Given the description of an element on the screen output the (x, y) to click on. 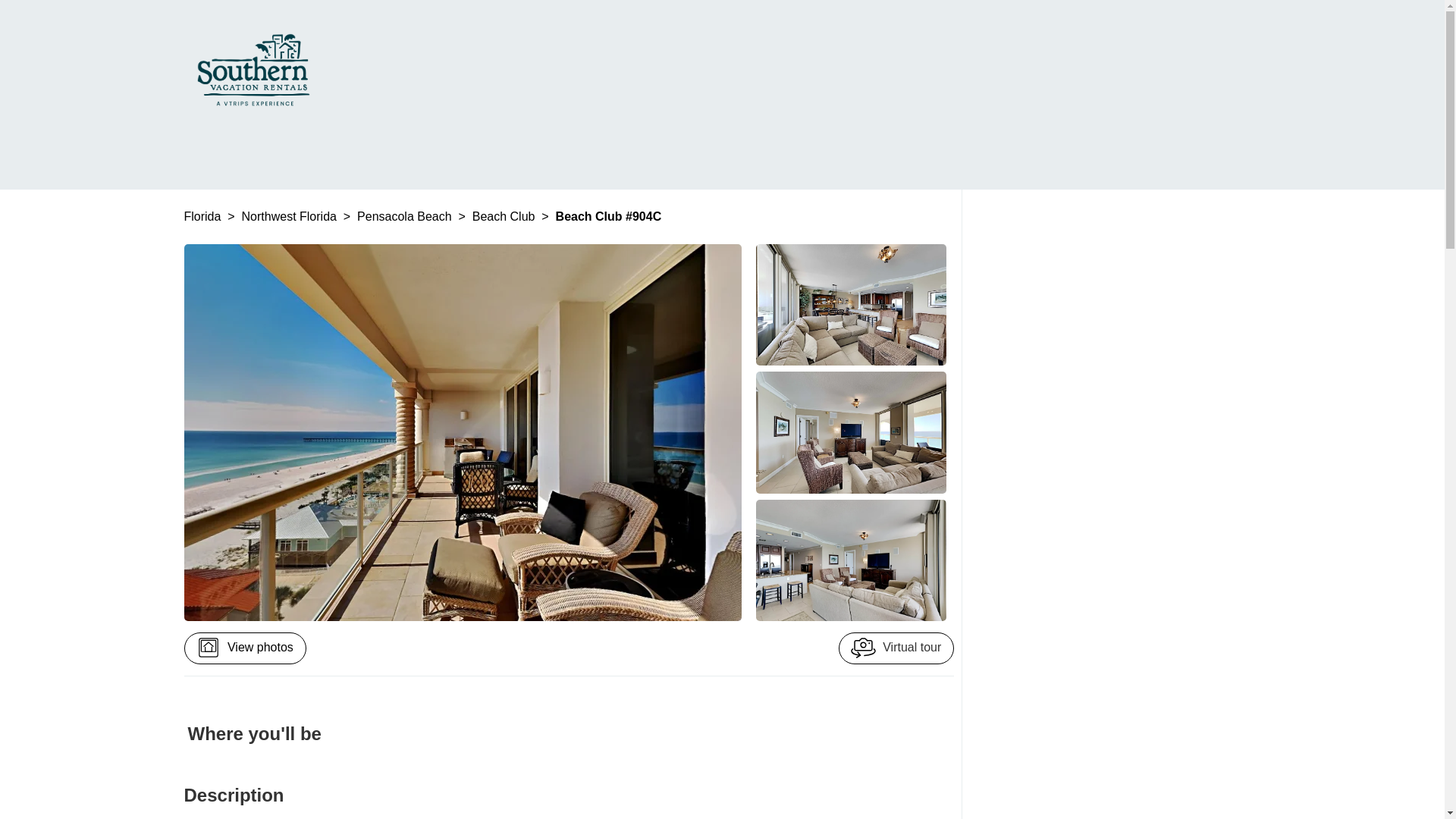
Florida (203, 215)
Living Room (850, 432)
Pensacola Beach (405, 215)
Living Room (850, 304)
Living Area (850, 559)
View photos (244, 648)
Virtual tour (896, 648)
Northwest Florida (290, 215)
Beach Club (504, 215)
